Given the description of an element on the screen output the (x, y) to click on. 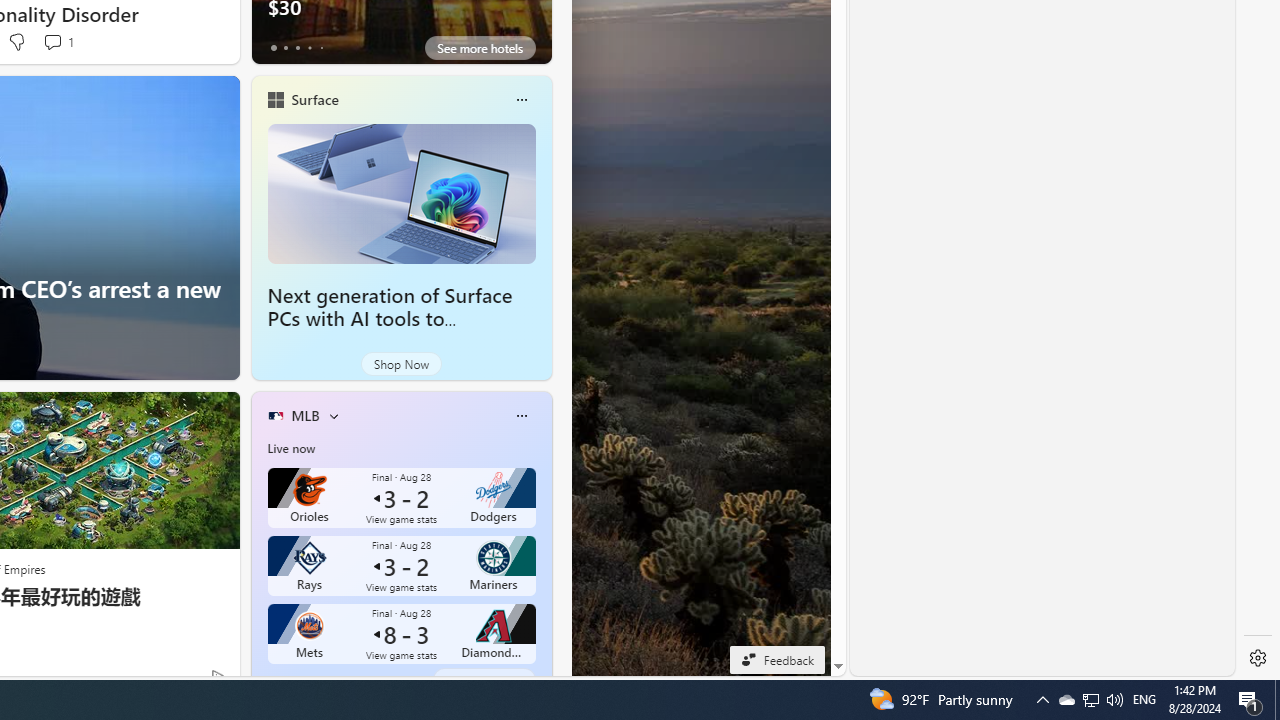
tab-4 (320, 679)
See more MLB (484, 679)
View comments 1 Comment (57, 42)
See more hotels (479, 47)
More interests (333, 415)
Shop Now (400, 363)
